Given the description of an element on the screen output the (x, y) to click on. 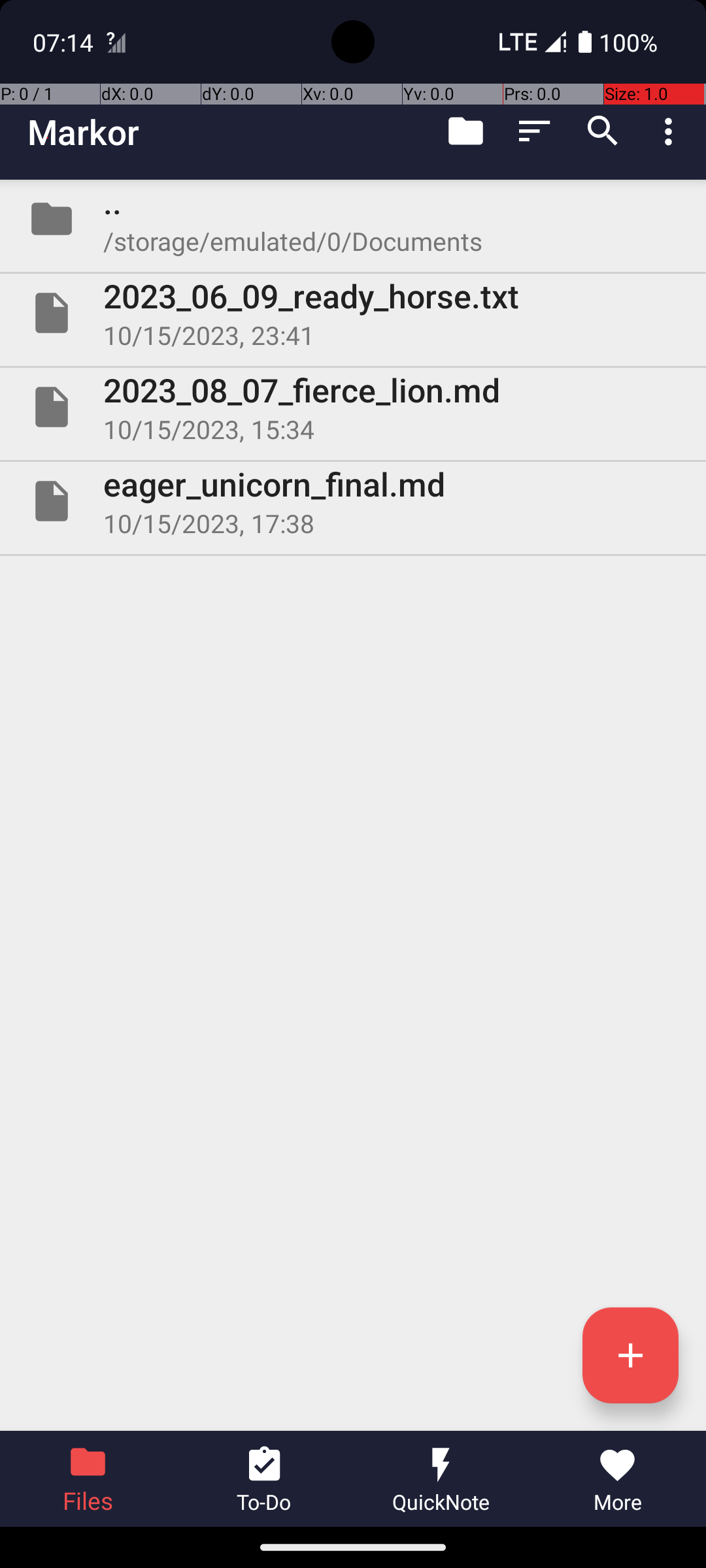
File 2023_06_09_ready_horse.txt  Element type: android.widget.LinearLayout (353, 312)
File 2023_08_07_fierce_lion.md  Element type: android.widget.LinearLayout (353, 406)
File eager_unicorn_final.md  Element type: android.widget.LinearLayout (353, 500)
07:14 Element type: android.widget.TextView (64, 41)
